Given the description of an element on the screen output the (x, y) to click on. 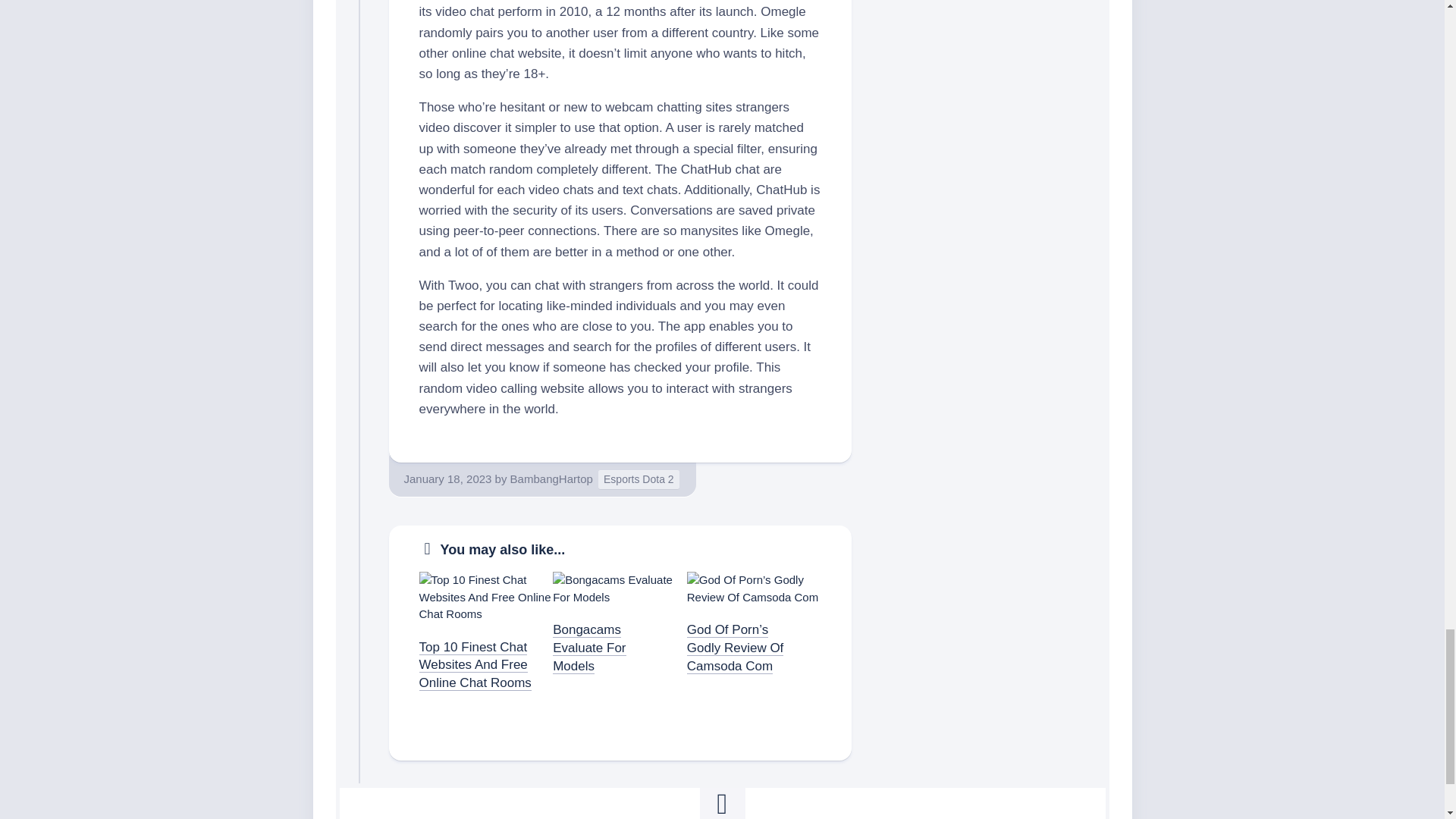
Top 10 Finest Chat Websites And Free Online Chat Rooms (475, 665)
Posts by BambangHartop (551, 478)
Esports Dota 2 (638, 479)
Bongacams Evaluate For Models (589, 647)
BambangHartop (551, 478)
